Given the description of an element on the screen output the (x, y) to click on. 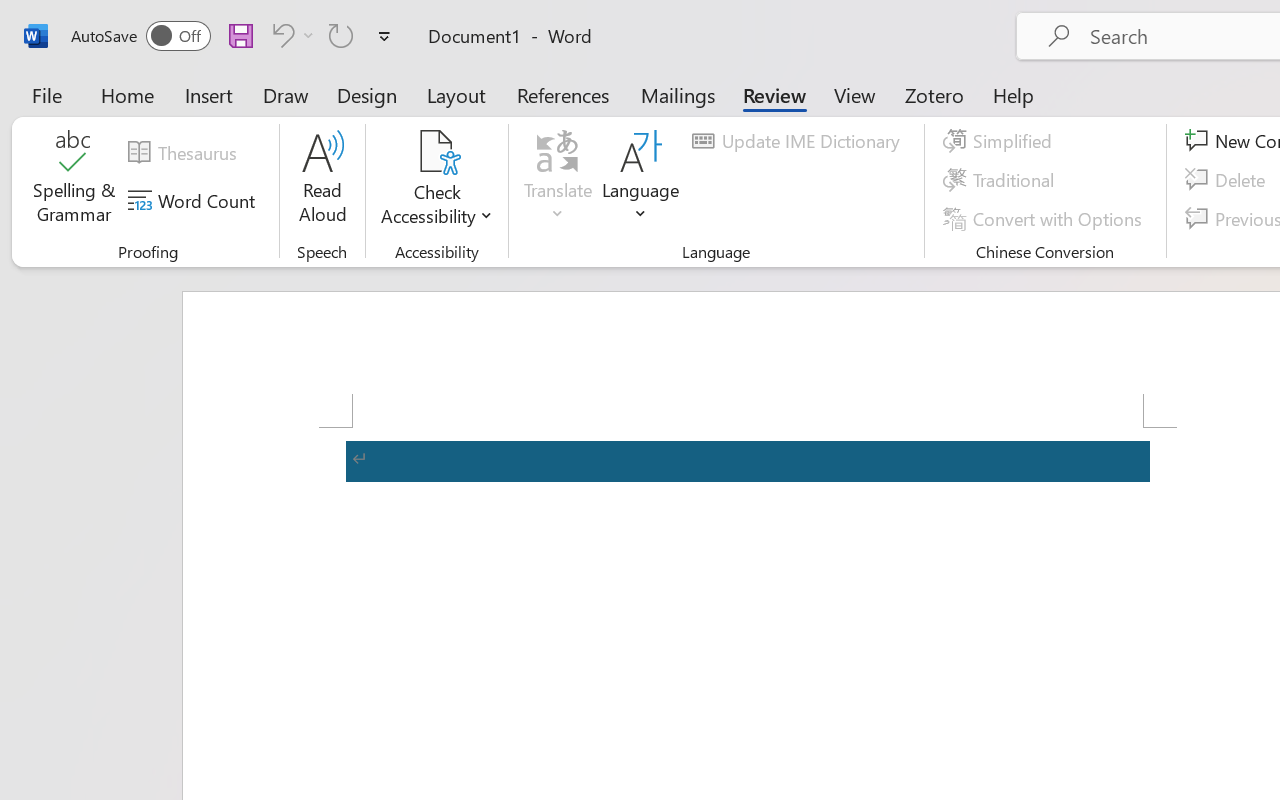
Repeat Accessibility Checker (341, 35)
Undo Apply Quick Style Set (280, 35)
Word Count (194, 201)
Spelling & Grammar (74, 180)
Simplified (1000, 141)
Undo Apply Quick Style Set (290, 35)
